Given the description of an element on the screen output the (x, y) to click on. 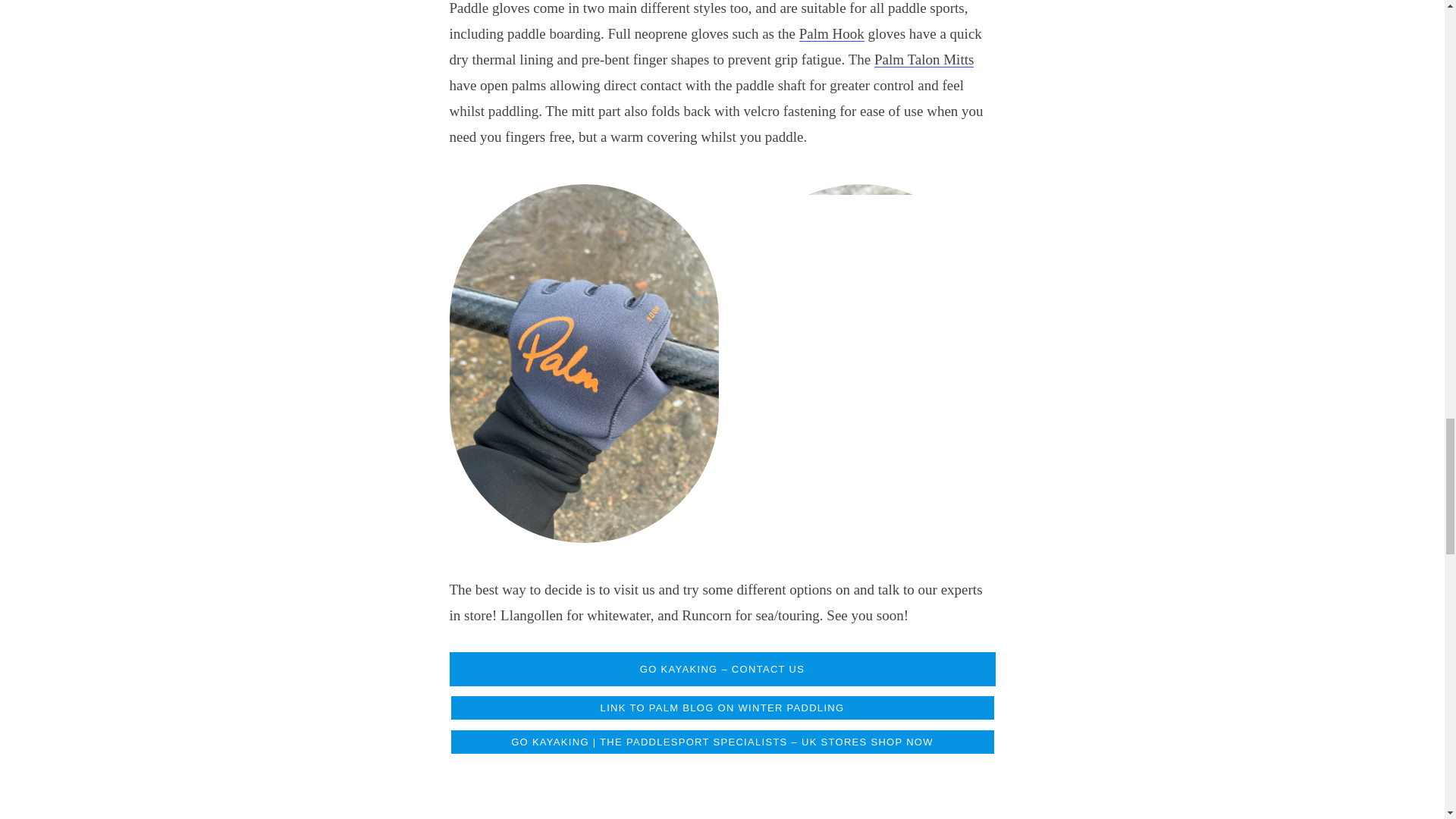
Palm Talon Mitts (924, 59)
Palm Hook (831, 33)
LINK TO PALM BLOG ON WINTER PADDLING (721, 707)
